Given the description of an element on the screen output the (x, y) to click on. 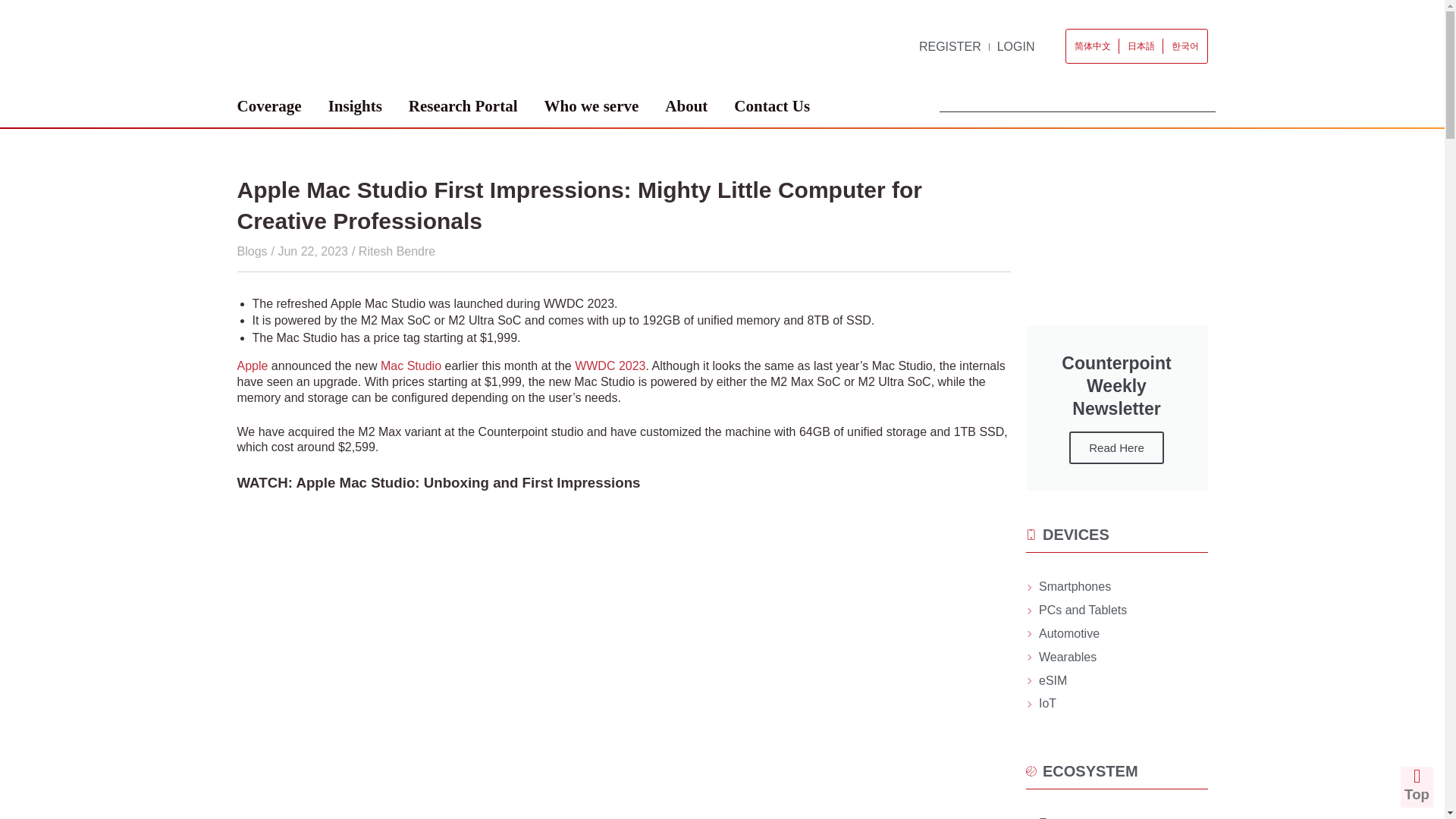
REGISTER (949, 47)
LOGIN (1016, 47)
